Given the description of an element on the screen output the (x, y) to click on. 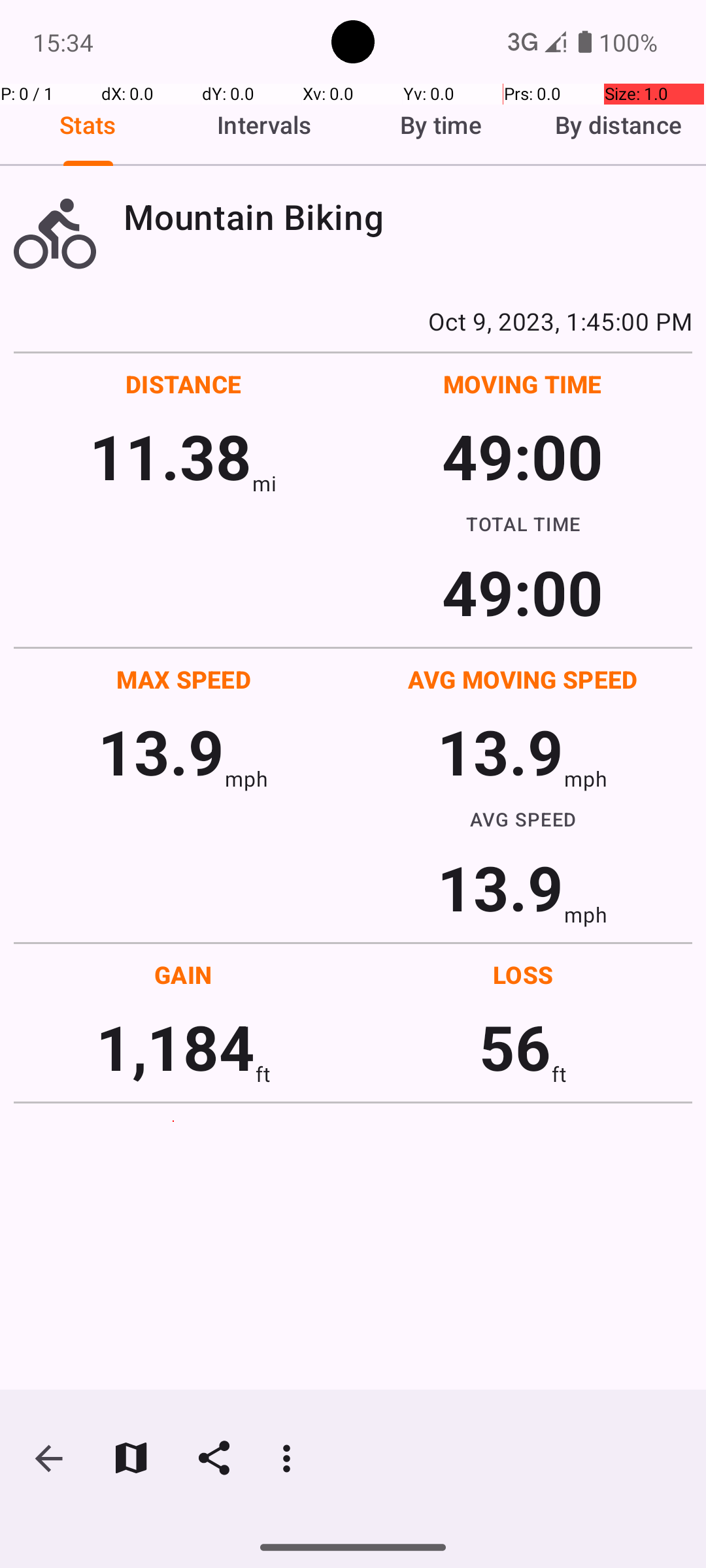
Mountain Biking Element type: android.widget.TextView (407, 216)
Oct 9, 2023, 1:45:00 PM Element type: android.widget.TextView (352, 320)
11.38 Element type: android.widget.TextView (170, 455)
49:00 Element type: android.widget.TextView (522, 455)
13.9 Element type: android.widget.TextView (161, 750)
1,184 Element type: android.widget.TextView (175, 1045)
56 Element type: android.widget.TextView (515, 1045)
